Given the description of an element on the screen output the (x, y) to click on. 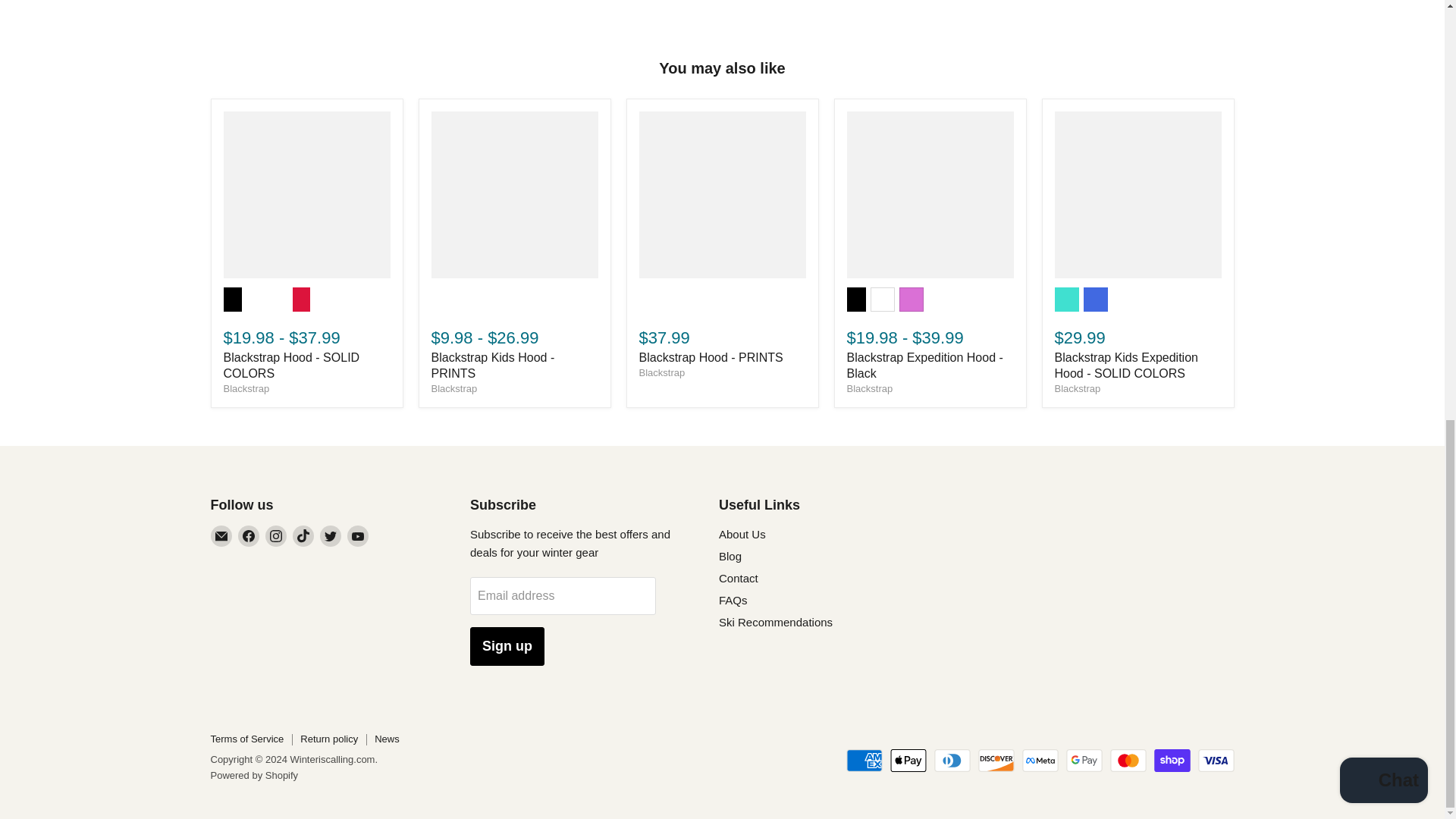
Blackstrap (453, 388)
Blackstrap (245, 388)
Blackstrap (1077, 388)
Facebook (248, 536)
YouTube (357, 536)
TikTok (303, 536)
Blackstrap (661, 372)
Blackstrap (868, 388)
Instagram (275, 536)
Email (221, 536)
